Given the description of an element on the screen output the (x, y) to click on. 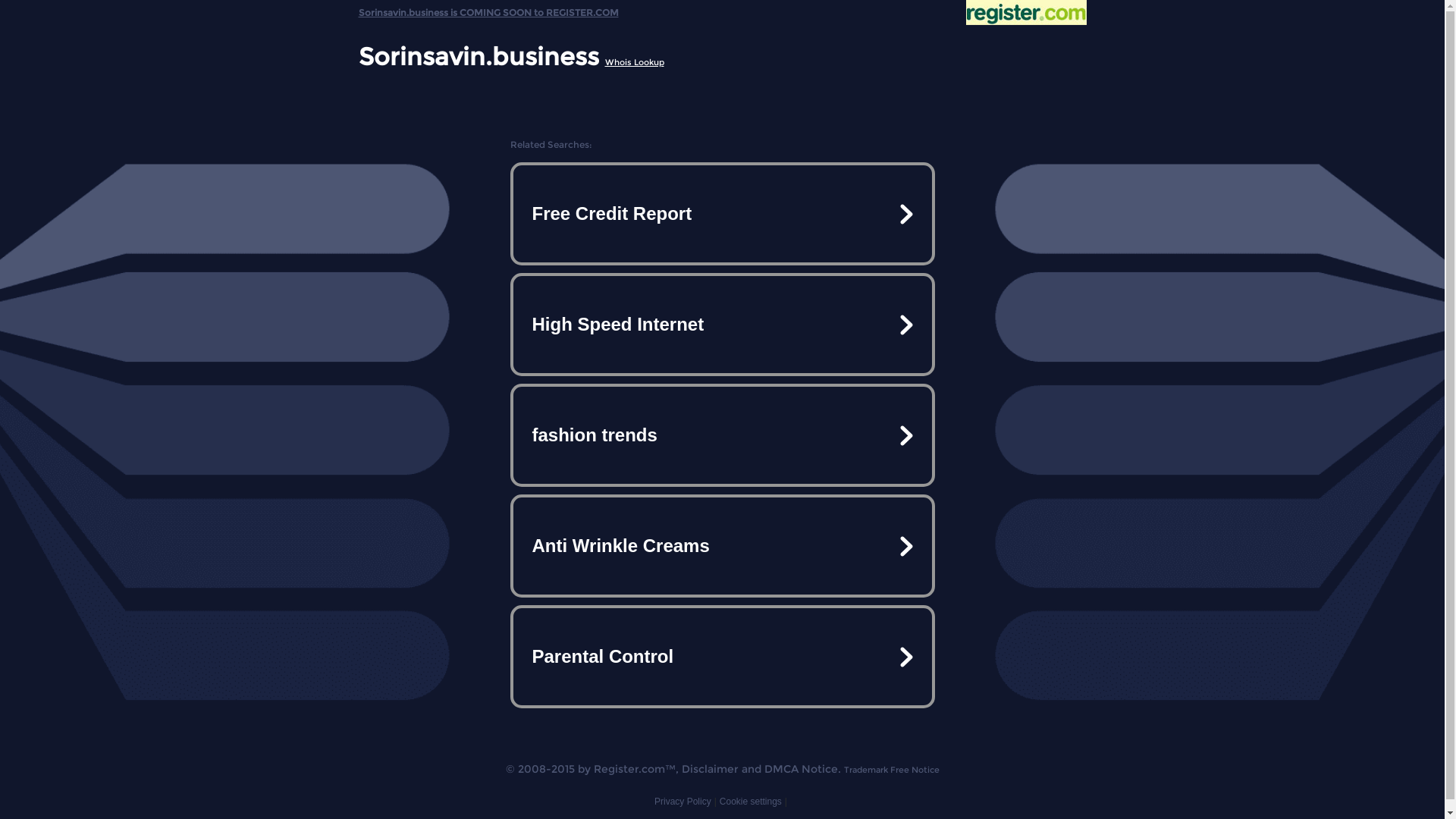
Parental Control Element type: text (721, 656)
Whois Lookup Element type: text (634, 61)
Sorinsavin.business is COMING SOON to REGISTER.COM Element type: text (487, 9)
High Speed Internet Element type: text (721, 324)
Anti Wrinkle Creams Element type: text (721, 545)
Trademark Free Notice Element type: text (890, 769)
Cookie settings Element type: text (750, 801)
Free Credit Report Element type: text (721, 213)
Privacy Policy Element type: text (682, 801)
fashion trends Element type: text (721, 434)
Sorinsavin.business Element type: text (477, 56)
